Given the description of an element on the screen output the (x, y) to click on. 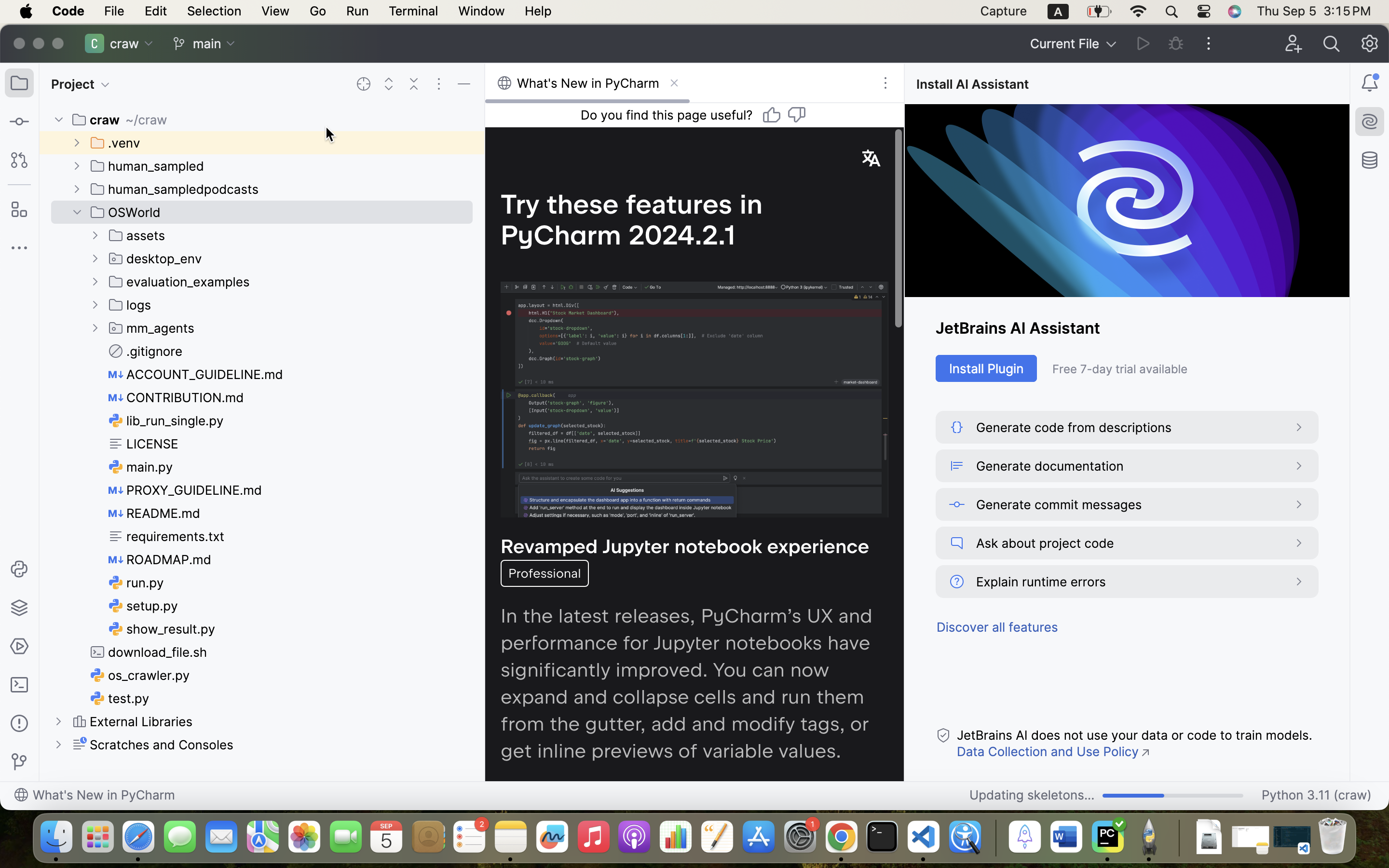
ROADMAP.md Element type: AXStaticText (160, 558)
main.py Element type: AXStaticText (141, 466)
0 Element type: AXGroup (159, 43)
logs Element type: AXStaticText (130, 304)
run.py Element type: AXStaticText (136, 582)
